Given the description of an element on the screen output the (x, y) to click on. 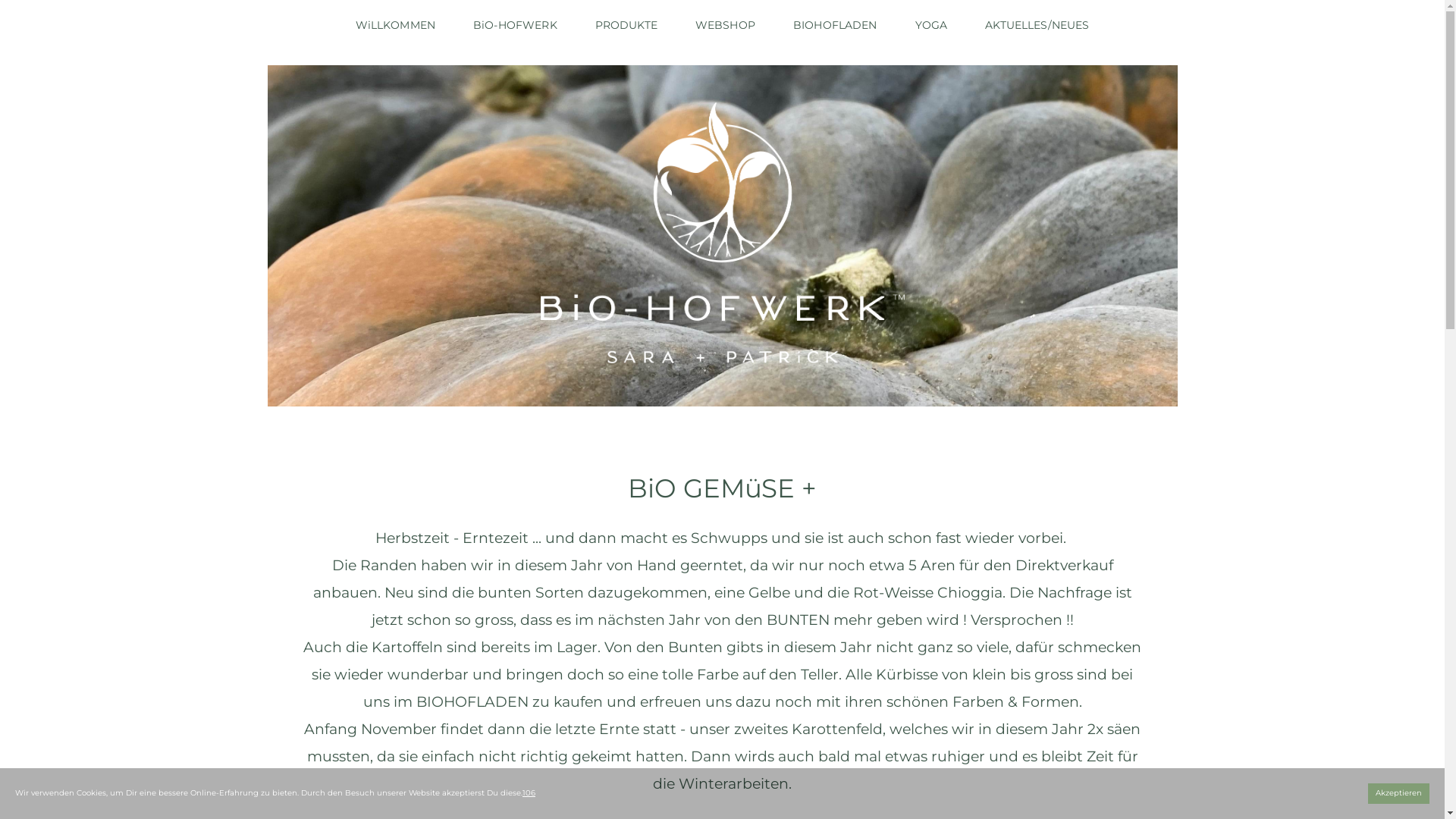
BIOHOFLADEN Element type: text (835, 24)
AKTUELLES/NEUES Element type: text (1036, 24)
WEBSHOP Element type: text (725, 24)
PRODUKTE Element type: text (626, 24)
BiO-HOFWERK Element type: text (515, 24)
YOGA Element type: text (931, 24)
WiLLKOMMEN Element type: text (395, 24)
Akzeptieren Element type: text (1398, 793)
106 Element type: text (528, 792)
